Given the description of an element on the screen output the (x, y) to click on. 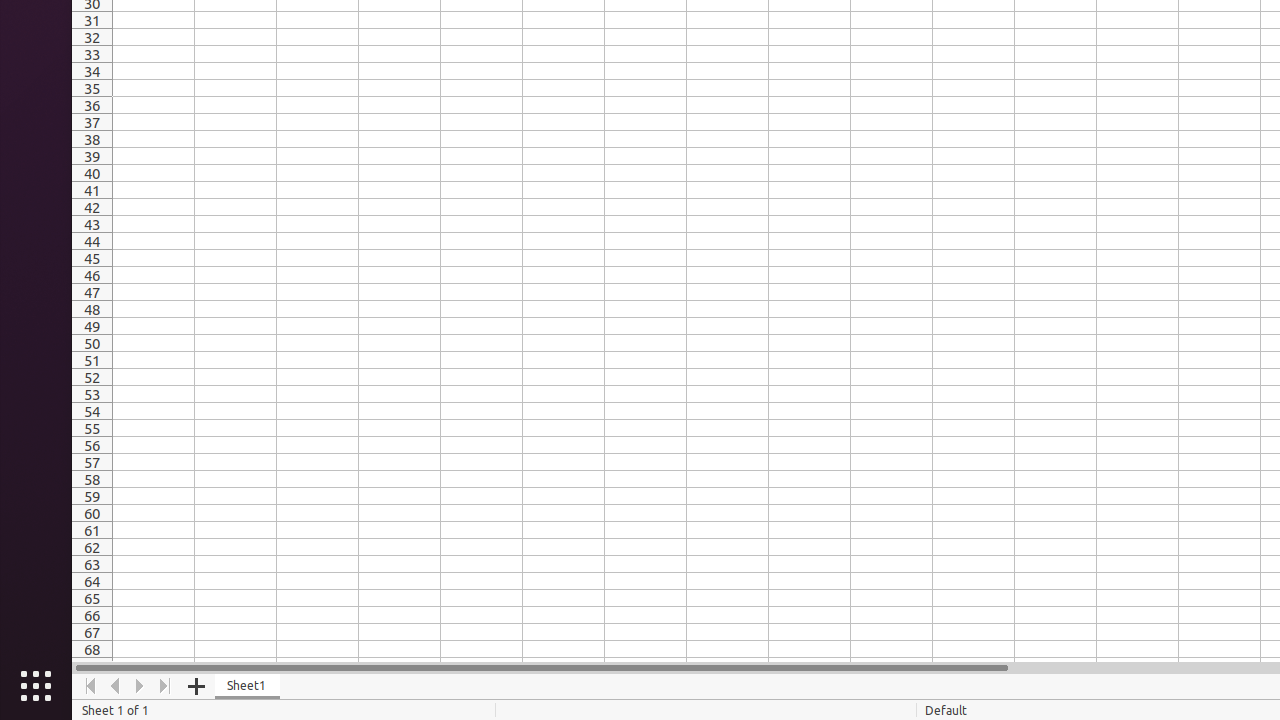
Move To End Element type: push-button (165, 686)
Move To Home Element type: push-button (90, 686)
Show Applications Element type: toggle-button (36, 686)
Move Right Element type: push-button (140, 686)
Sheet1 Element type: page-tab (247, 686)
